Given the description of an element on the screen output the (x, y) to click on. 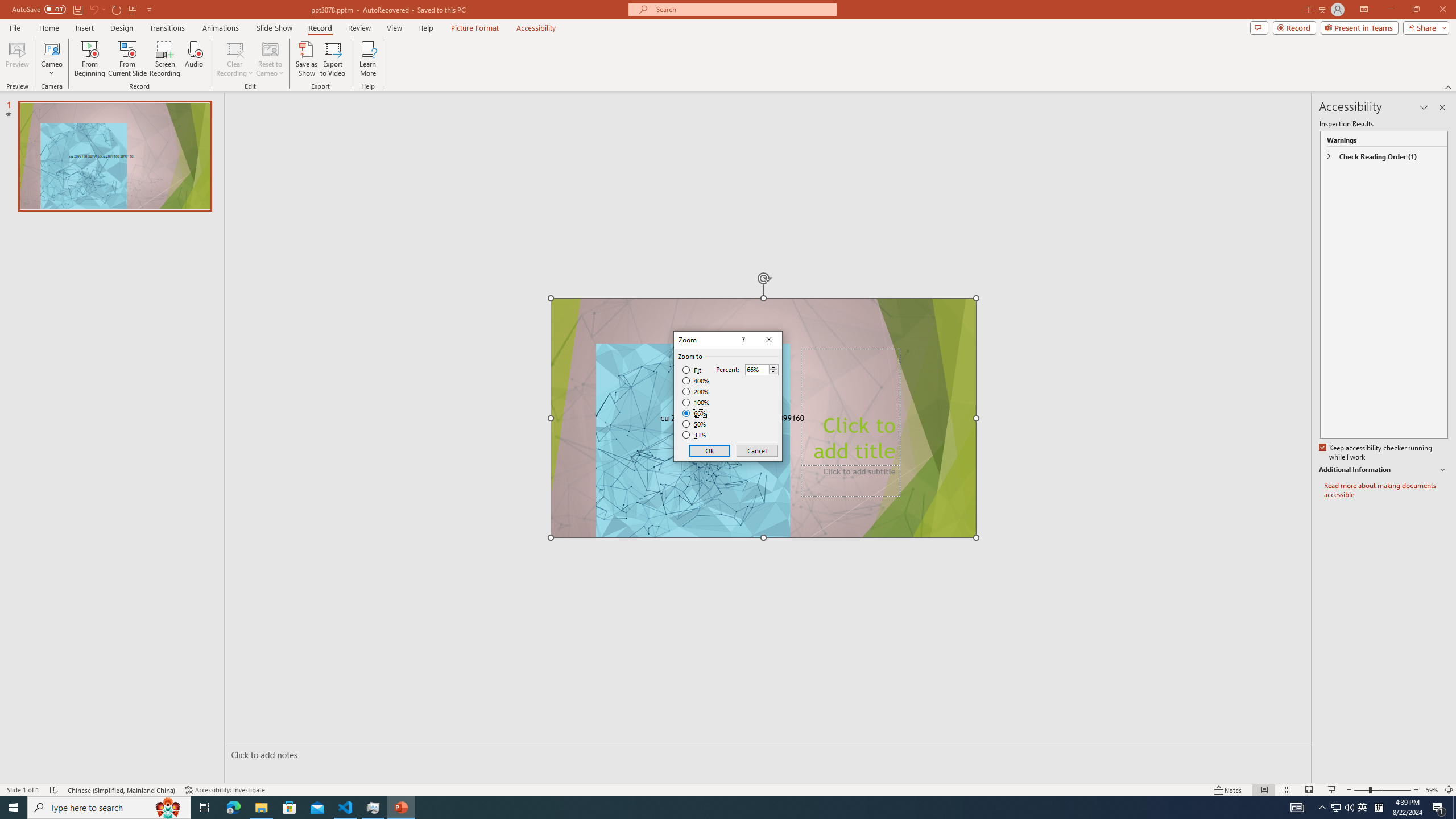
Audio (193, 58)
User Promoted Notification Area (1342, 807)
66% (694, 412)
33% (694, 434)
File Explorer - 1 running window (261, 807)
Task View (204, 807)
Fit (1362, 807)
